Given the description of an element on the screen output the (x, y) to click on. 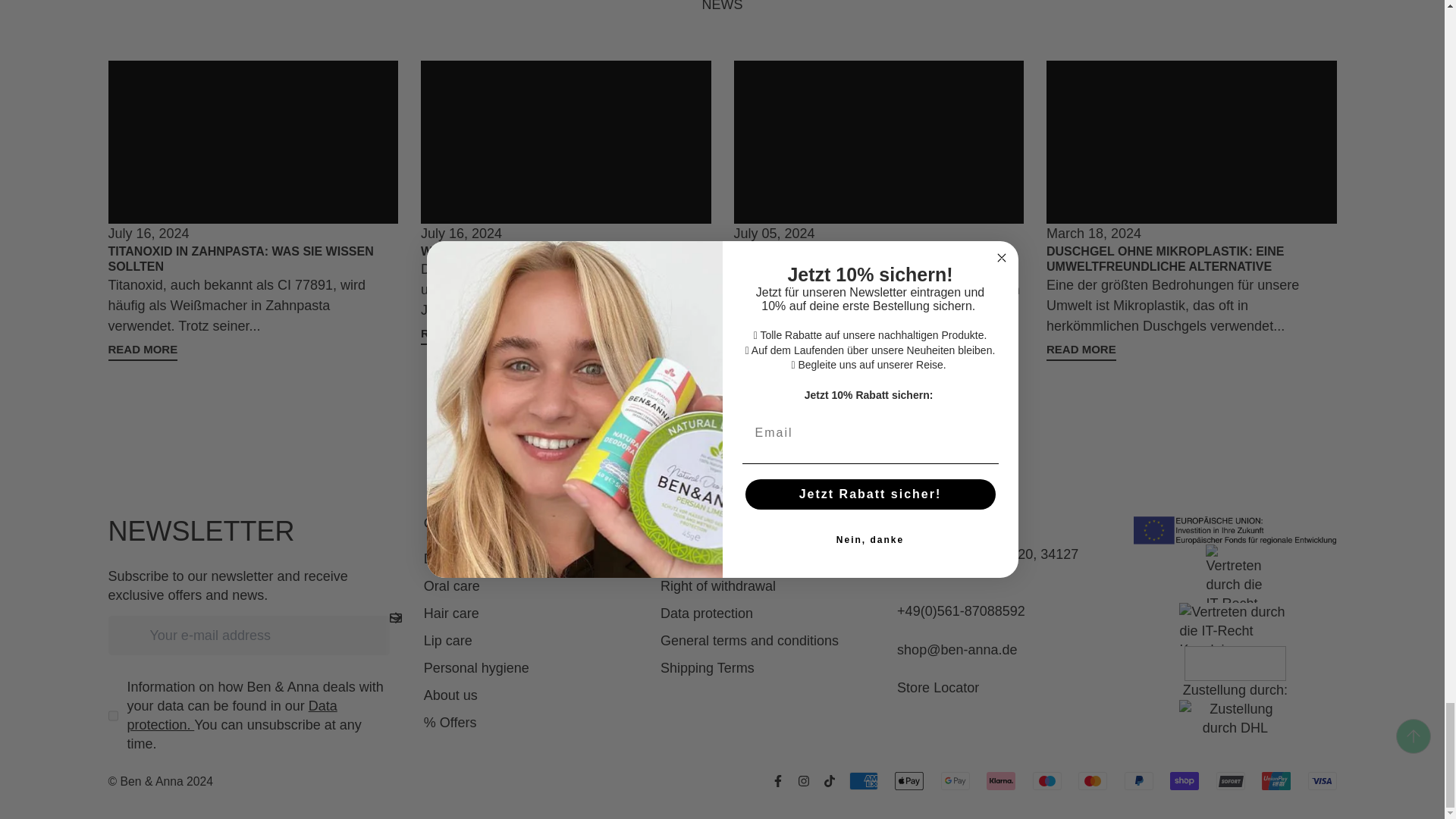
yes (112, 715)
